Given the description of an element on the screen output the (x, y) to click on. 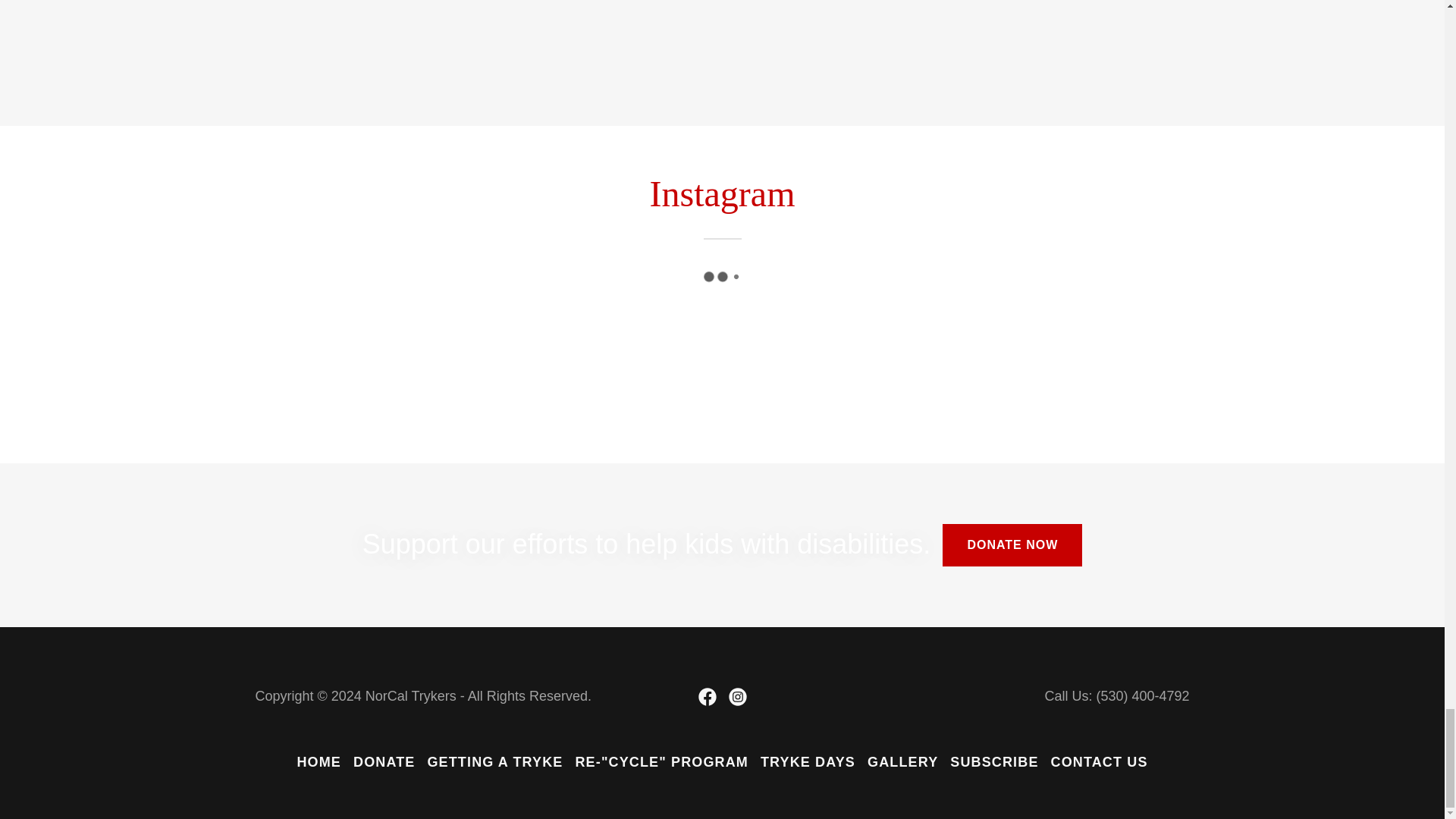
GETTING A TRYKE (494, 762)
HOME (318, 762)
RE-"CYCLE" PROGRAM (661, 762)
SUBSCRIBE (993, 762)
GALLERY (902, 762)
TRYKE DAYS (807, 762)
DONATE NOW (1011, 545)
CONTACT US (1099, 762)
DONATE (383, 762)
